Given the description of an element on the screen output the (x, y) to click on. 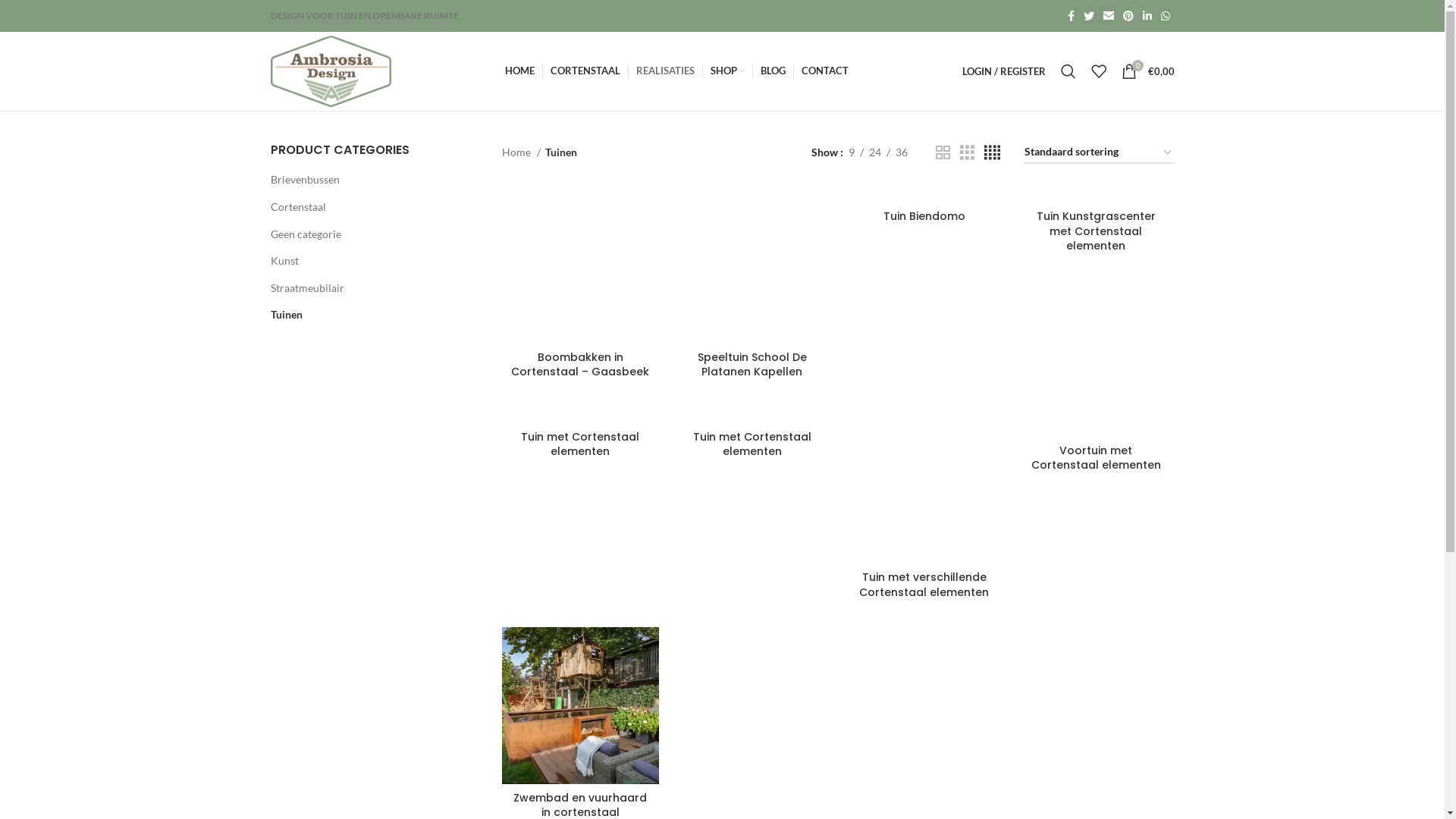
CORTENSTAAL Element type: text (585, 71)
CONTACT Element type: text (824, 71)
36 Element type: text (901, 152)
SHOP Element type: text (727, 71)
9 Element type: text (851, 152)
Straatmeubilair Element type: text (364, 287)
Home Element type: text (521, 152)
HOME Element type: text (519, 71)
Tuin met Cortenstaal elementen Element type: text (579, 444)
Tuin Biendomo Element type: text (924, 215)
Voortuin met Cortenstaal elementen Element type: text (1096, 457)
Geen categorie Element type: text (364, 233)
Speeltuin School De Platanen Kapellen Element type: text (751, 364)
Kunst Element type: text (364, 260)
Log in Element type: text (920, 312)
My Wishlist Element type: hover (1097, 71)
24 Element type: text (874, 152)
Brievenbussen Element type: text (364, 179)
REALISATIES Element type: text (665, 71)
Tuinen Element type: text (364, 314)
Search Element type: hover (1067, 71)
BLOG Element type: text (772, 71)
Tuin met verschillende Cortenstaal elementen Element type: text (923, 584)
Cortenstaal Element type: text (364, 206)
LOGIN / REGISTER Element type: text (1002, 71)
Tuin Kunstgrascenter met Cortenstaal elementen Element type: text (1095, 230)
Tuin met Cortenstaal elementen Element type: text (752, 444)
